Given the description of an element on the screen output the (x, y) to click on. 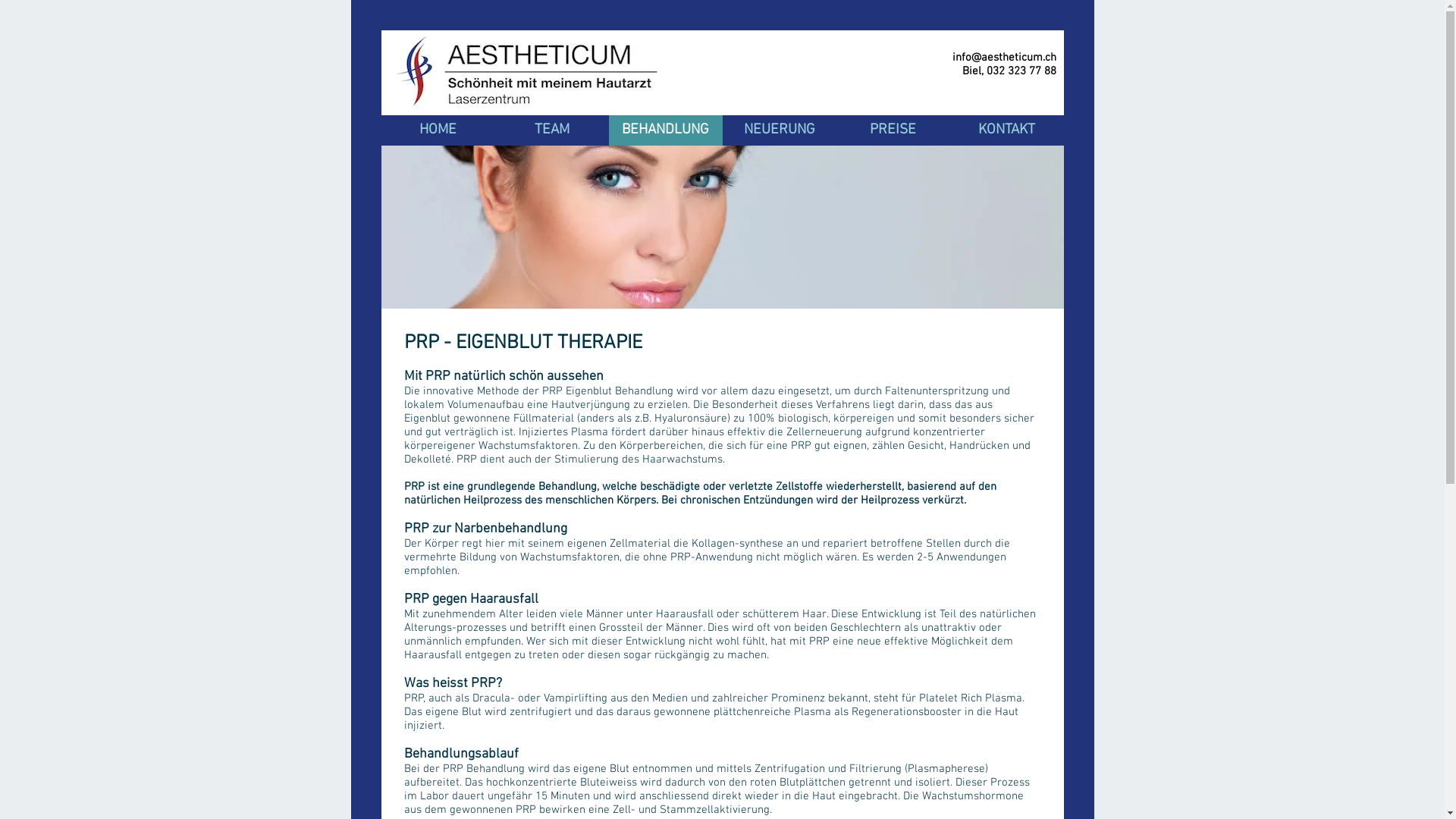
KONTAKT Element type: text (1006, 130)
PREISE Element type: text (892, 130)
info@aestheticum.ch Element type: text (1004, 57)
TEAM Element type: text (551, 130)
HOME Element type: text (437, 130)
BEHANDLUNG Element type: text (664, 130)
NEUERUNG Element type: text (778, 130)
